Given the description of an element on the screen output the (x, y) to click on. 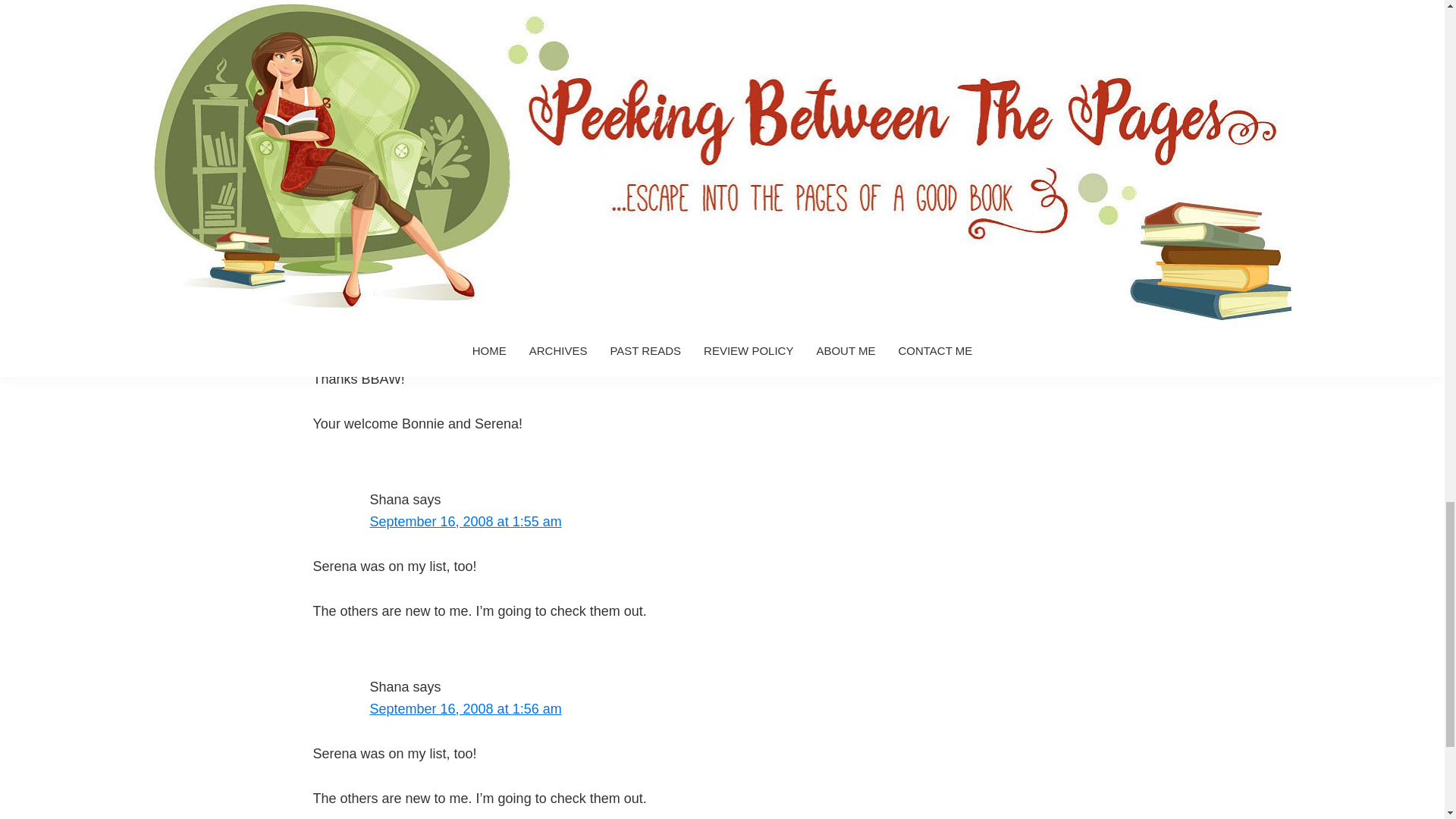
September 16, 2008 at 1:56 am (465, 708)
September 16, 2008 at 1:55 am (465, 521)
September 15, 2008 at 11:54 pm (469, 191)
September 16, 2008 at 12:21 am (469, 334)
